Given the description of an element on the screen output the (x, y) to click on. 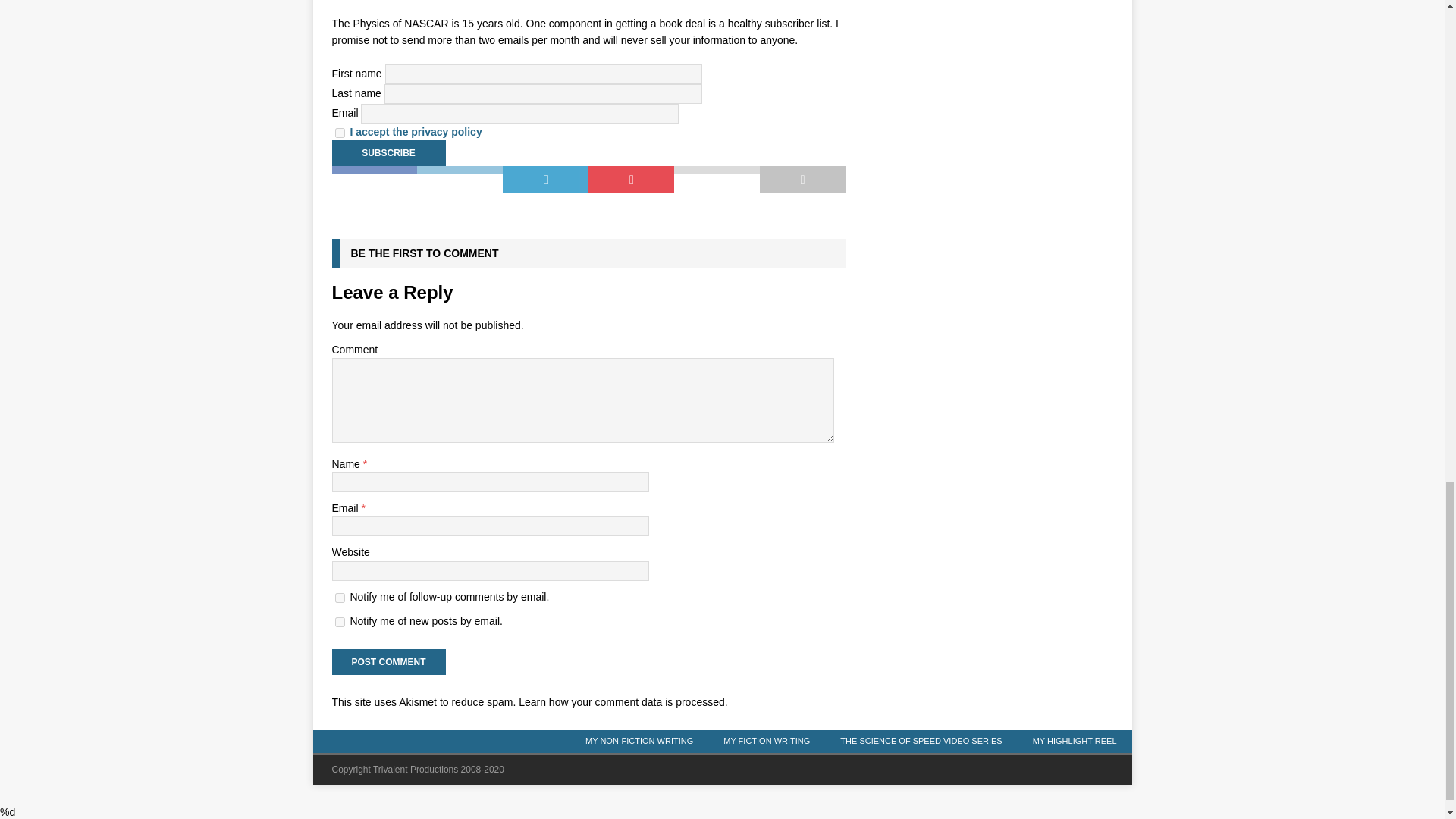
Subscribe (388, 153)
subscribe (339, 597)
Post Comment (388, 661)
I accept the privacy policy (415, 132)
Subscribe (388, 153)
on (339, 132)
subscribe (339, 622)
